Given the description of an element on the screen output the (x, y) to click on. 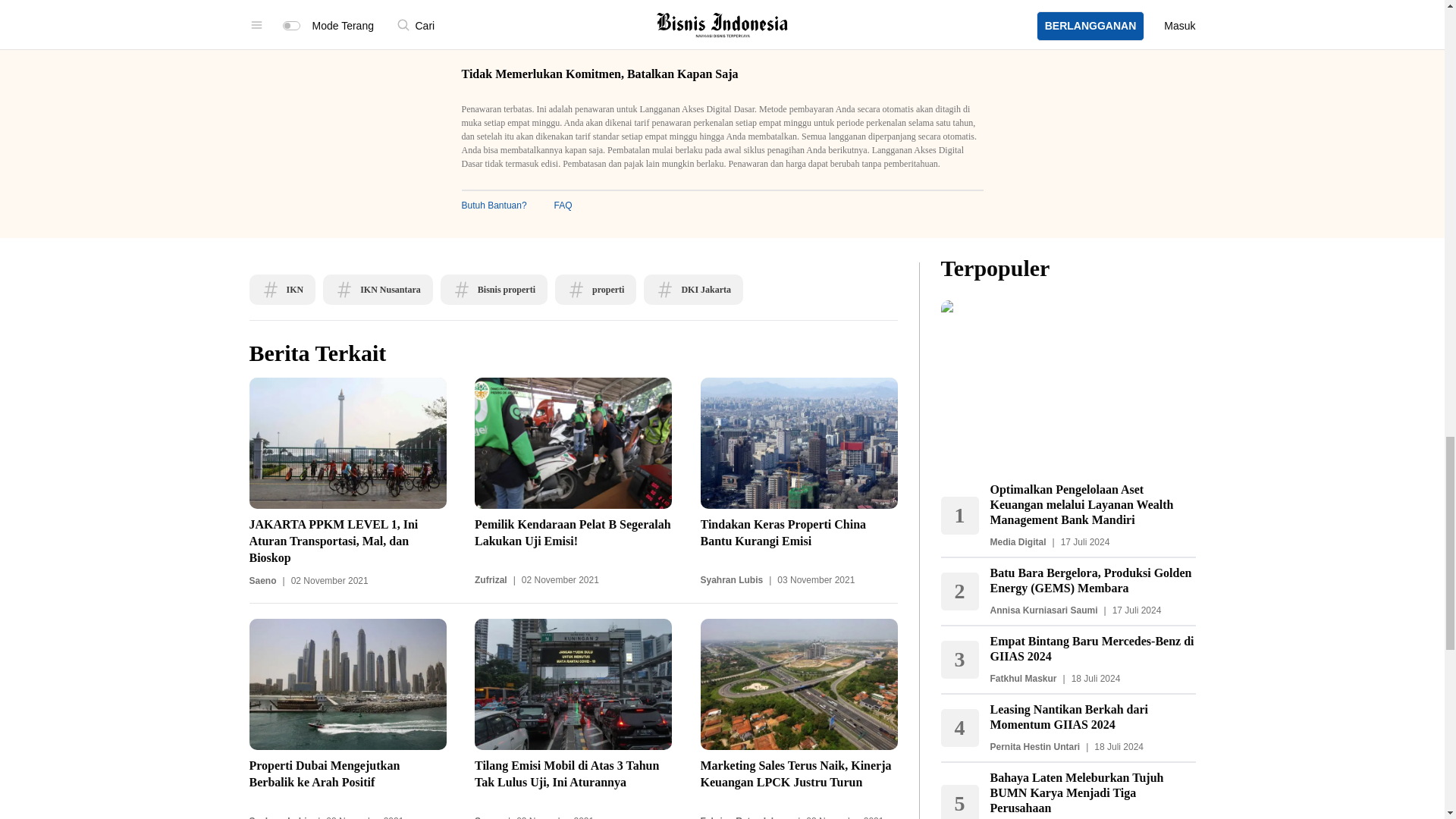
FAQ (563, 204)
Butuh Bantuan? (493, 204)
